Given the description of an element on the screen output the (x, y) to click on. 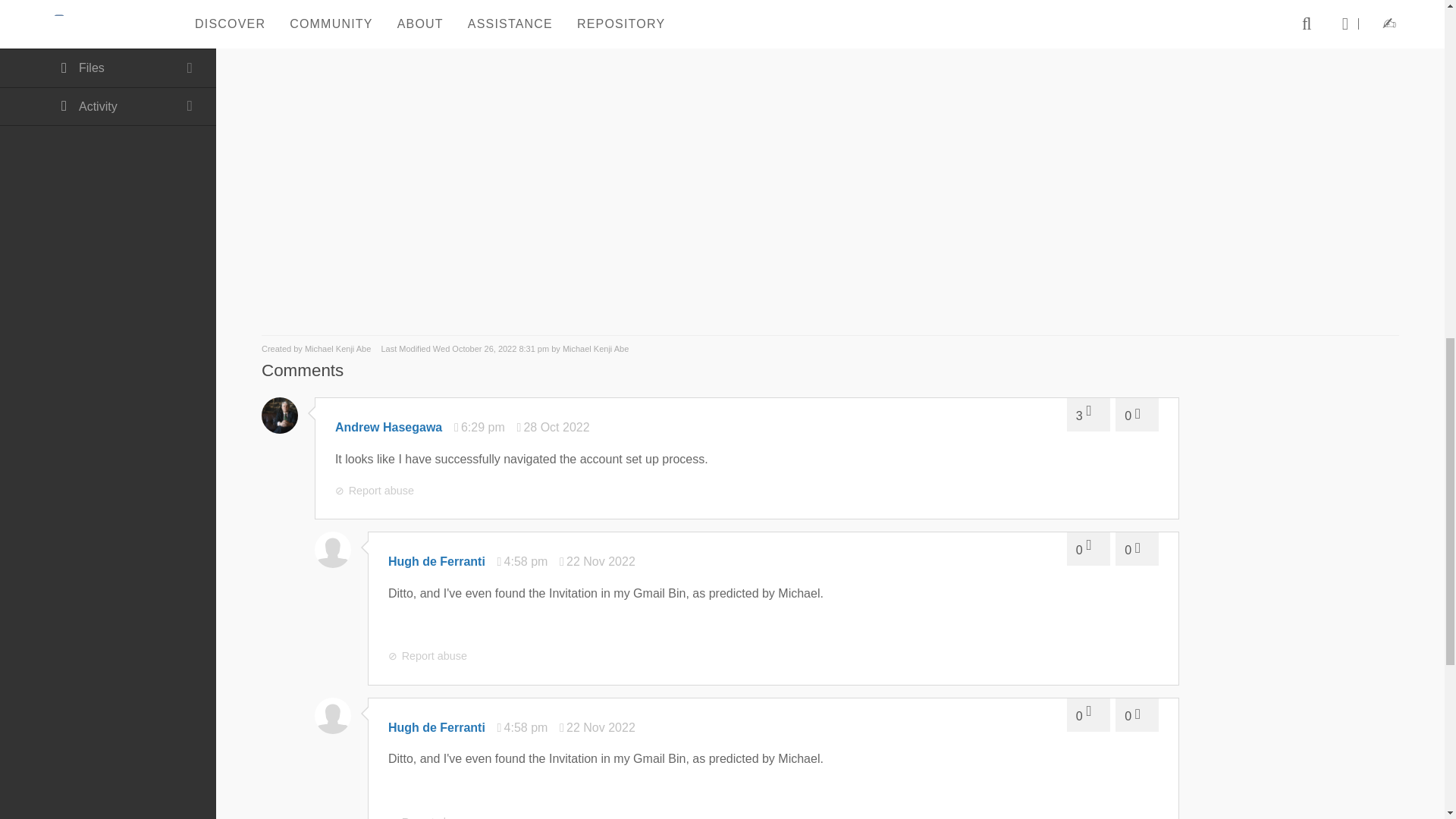
This page is restricted to group members only! (107, 30)
 Please login to vote. (1136, 414)
This page is restricted to group members only! (107, 5)
This page is restricted to group members only! (107, 106)
 Please login to vote. (1088, 414)
This page is restricted to group members only! (107, 68)
Created by Wed October 26, 2022 (317, 347)
